Given the description of an element on the screen output the (x, y) to click on. 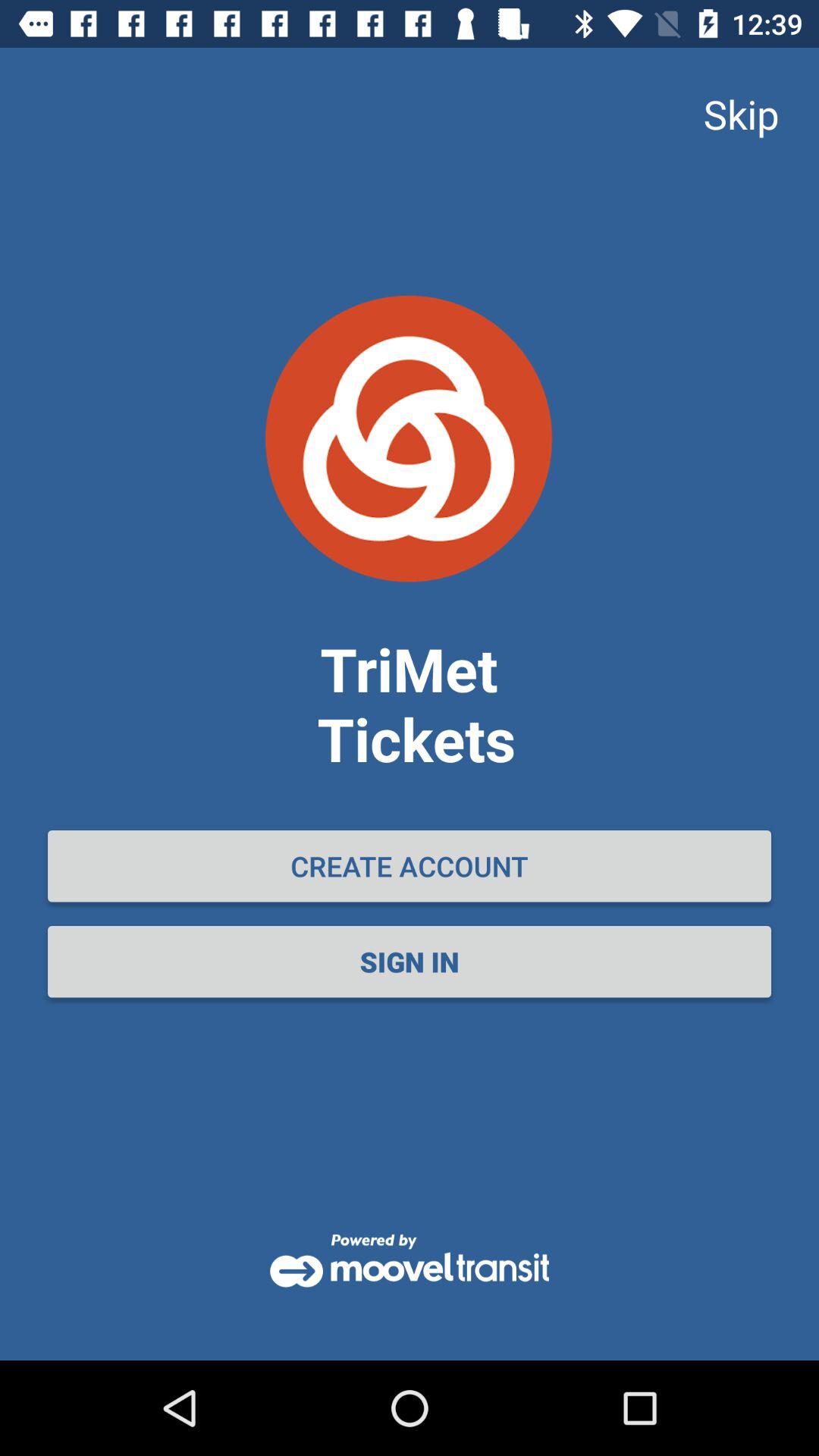
turn off item at the top right corner (741, 113)
